Given the description of an element on the screen output the (x, y) to click on. 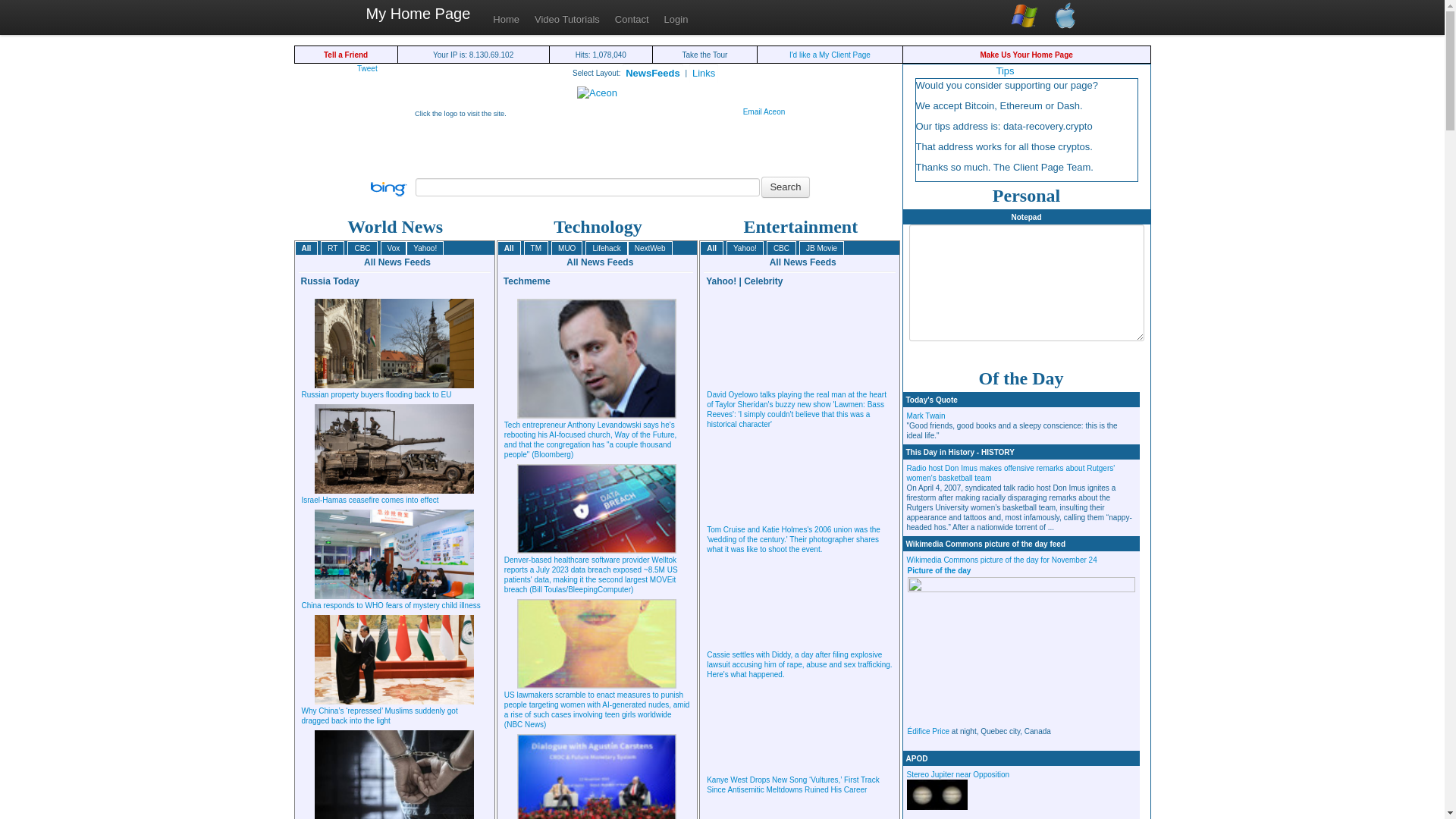
CBC Element type: text (361, 247)
Wikimedia Commons picture of the day for November 24 Element type: text (1001, 559)
Email Aceon Element type: text (764, 111)
All Element type: text (305, 247)
Make Us Your Home Page Element type: text (1025, 54)
NextWeb Element type: text (649, 247)
Israel-Hamas ceasefire comes into effect Element type: text (393, 499)
Yahoo! Element type: text (424, 247)
Vox Element type: text (393, 247)
Tweet        Element type: text (374, 68)
Home Element type: text (506, 19)
Wikimedia Commons picture of the day feed Element type: text (985, 543)
JB Movie Element type: text (821, 247)
All Element type: text (508, 247)
Mark Twain Element type: text (925, 415)
Picture of the day Element type: text (938, 570)
My Home Page Element type: text (417, 15)
This Day in History - HISTORY Element type: text (959, 451)
Today's Quote Element type: text (931, 399)
Yahoo! Element type: text (744, 247)
Contact Element type: text (631, 19)
Lifehack Element type: text (606, 247)
Stereo Jupiter near Opposition Element type: text (958, 774)
NewsFeeds Element type: text (652, 73)
Search Element type: text (785, 186)
CBC Element type: text (781, 247)
Login Element type: text (676, 19)
China responds to WHO fears of mystery child illness Element type: text (393, 605)
APOD Element type: text (916, 757)
TM Element type: text (536, 247)
RT Element type: text (332, 247)
Russian property buyers flooding back to EU Element type: text (393, 394)
All Element type: text (711, 247)
Links Element type: text (703, 73)
I'd like a My Client Page Element type: text (829, 54)
Tell a Friend Element type: text (345, 54)
Video Tutorials Element type: text (567, 19)
MUO Element type: text (566, 247)
